Given the description of an element on the screen output the (x, y) to click on. 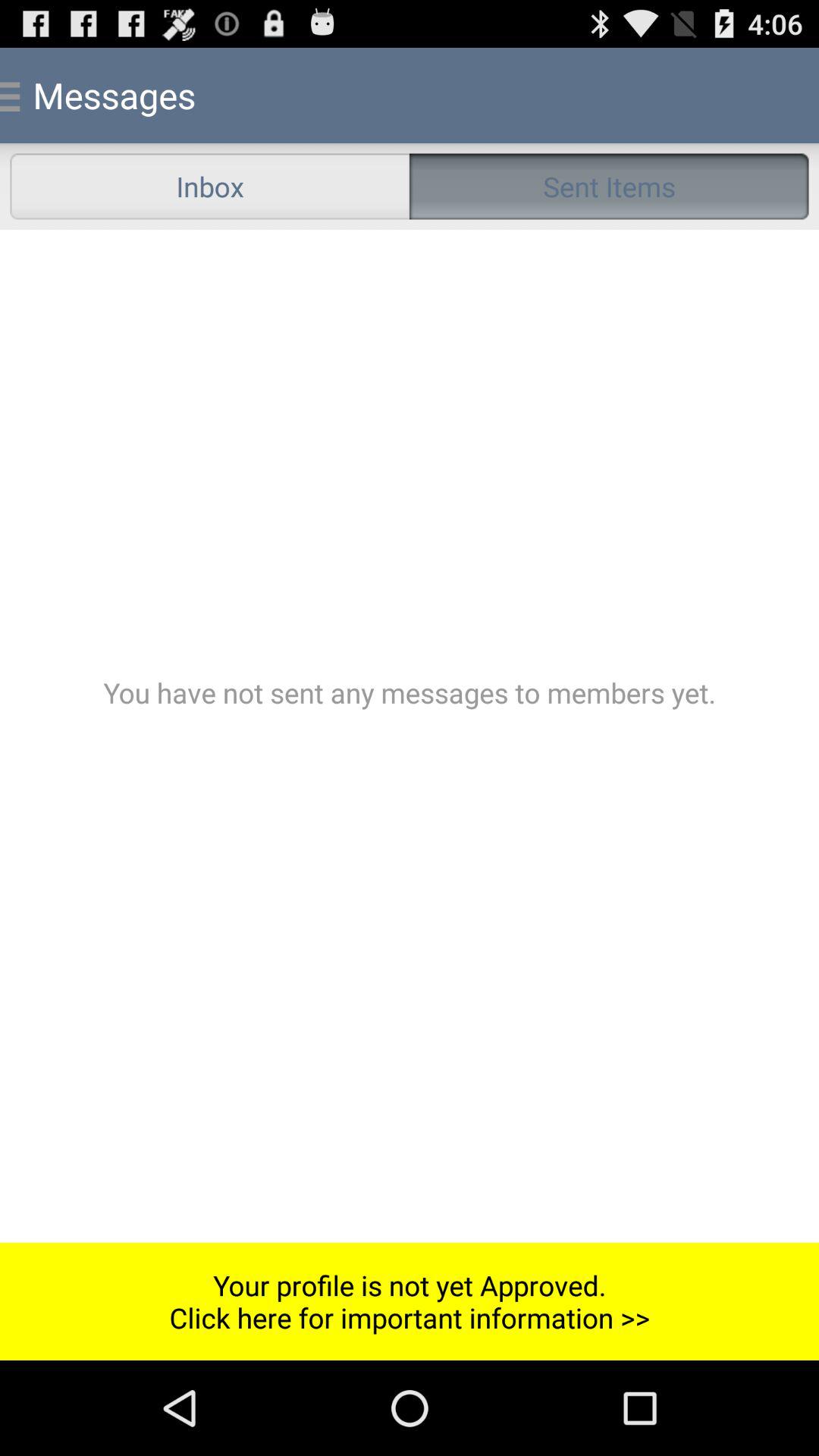
turn on item next to inbox icon (608, 186)
